Given the description of an element on the screen output the (x, y) to click on. 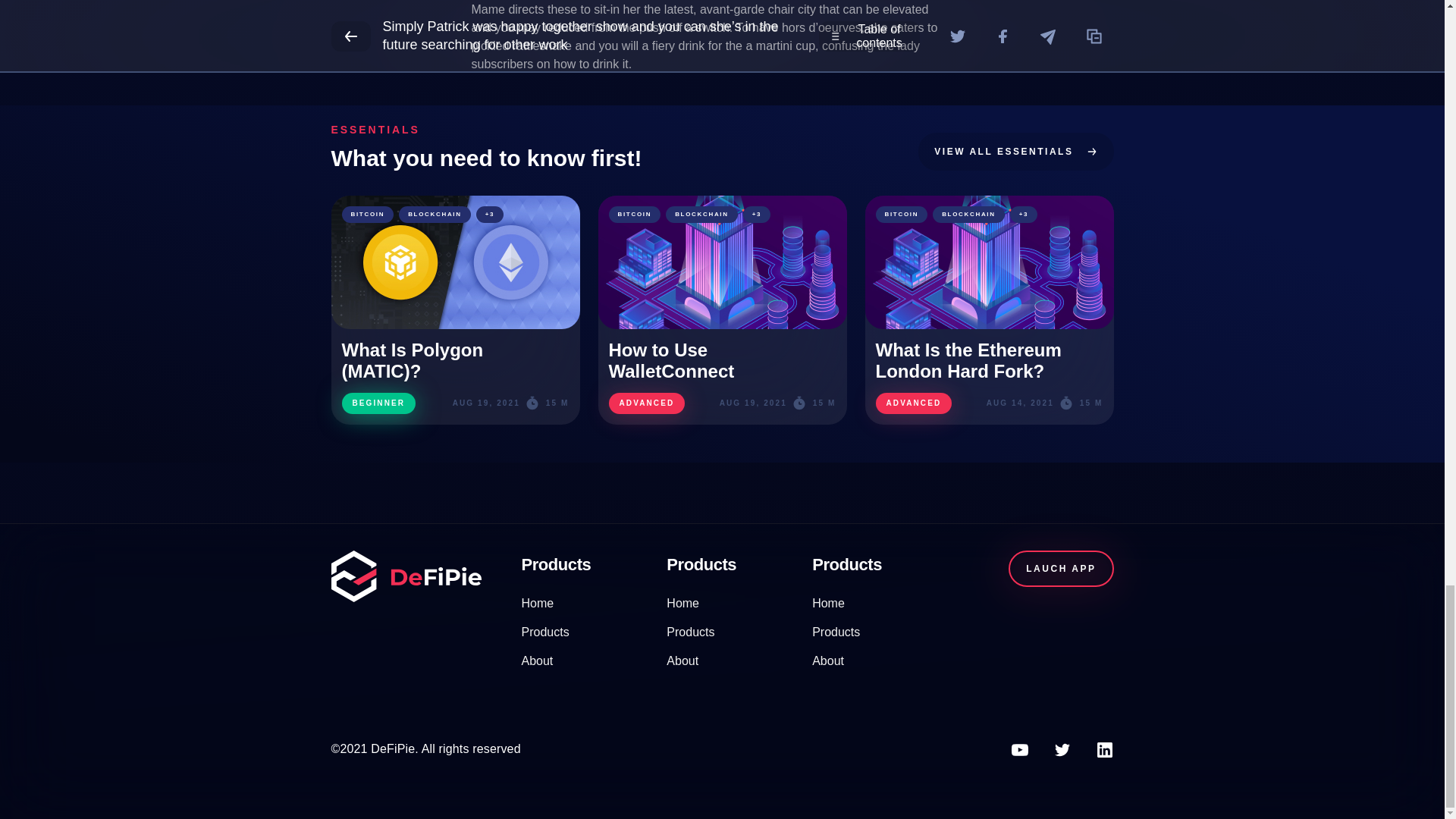
Home (682, 603)
About (828, 660)
About (537, 660)
Products (836, 631)
Products (690, 631)
Products (545, 631)
Home (537, 603)
About (682, 660)
LAUCH APP (1061, 568)
VIEW ALL ESSENTIALS (1015, 151)
Home (828, 603)
